Given the description of an element on the screen output the (x, y) to click on. 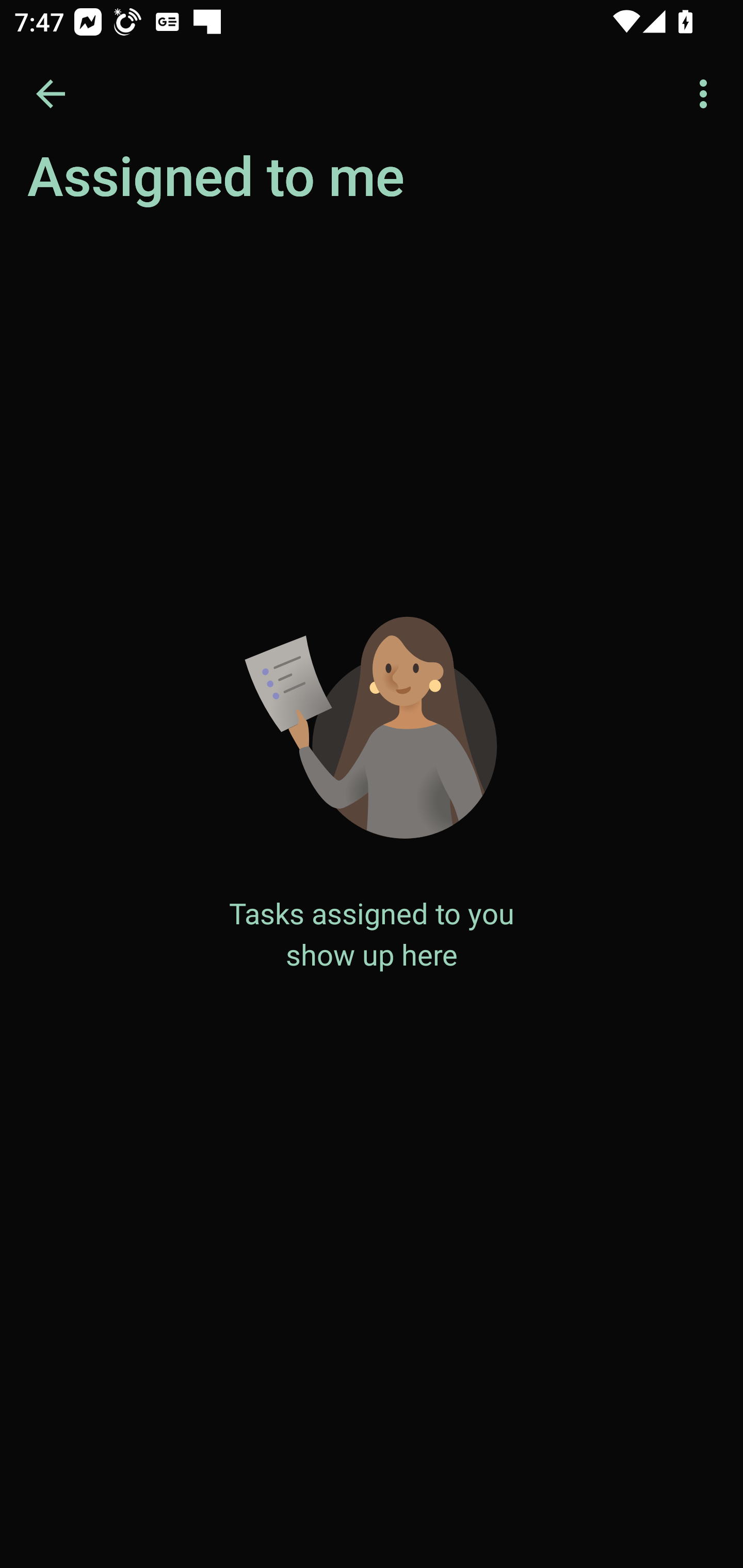
Back (50, 93)
More options (706, 93)
